Given the description of an element on the screen output the (x, y) to click on. 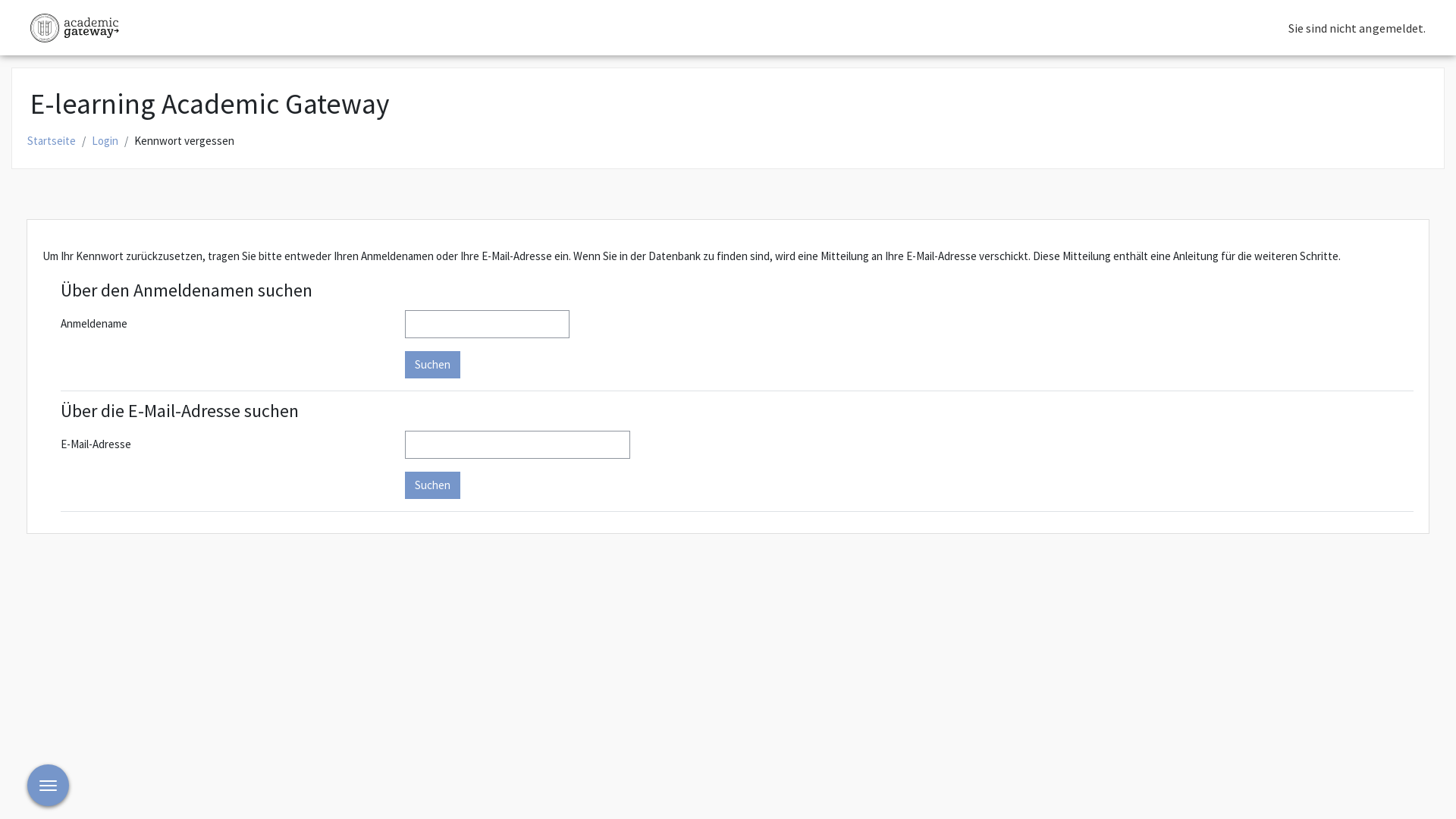
Startseite Element type: text (51, 141)
Login Element type: text (104, 141)
Suchen Element type: text (432, 485)
Suchen Element type: text (432, 364)
